Given the description of an element on the screen output the (x, y) to click on. 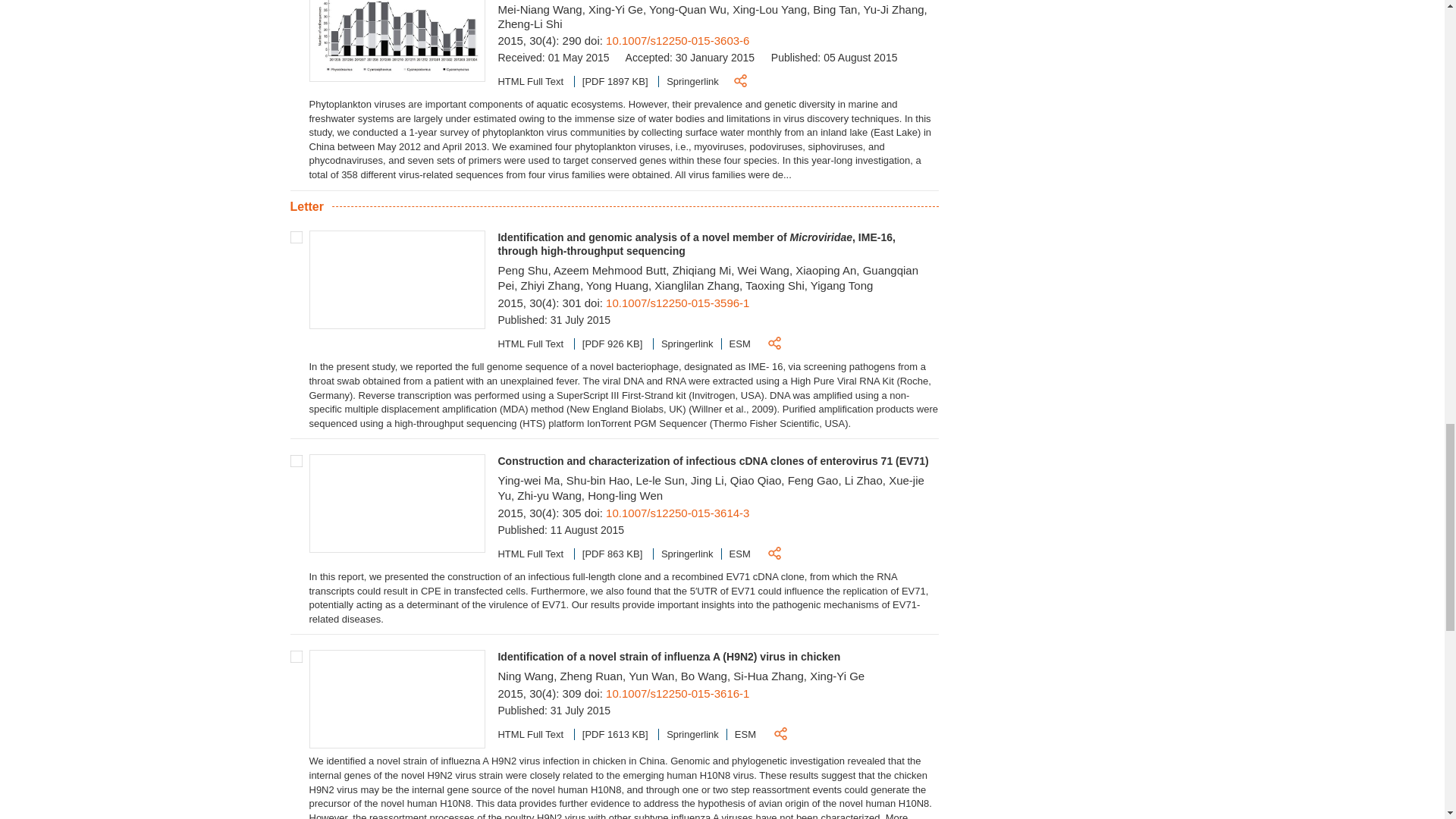
dde9956b-c419-4f9f-a53d-83a7dc2b1cf2 (295, 460)
a3373b31-b69e-42a1-bda4-49d1a6ed7b64 (295, 236)
cafbcfdc-6c87-4dcc-8312-70be62af17db (295, 656)
